Given the description of an element on the screen output the (x, y) to click on. 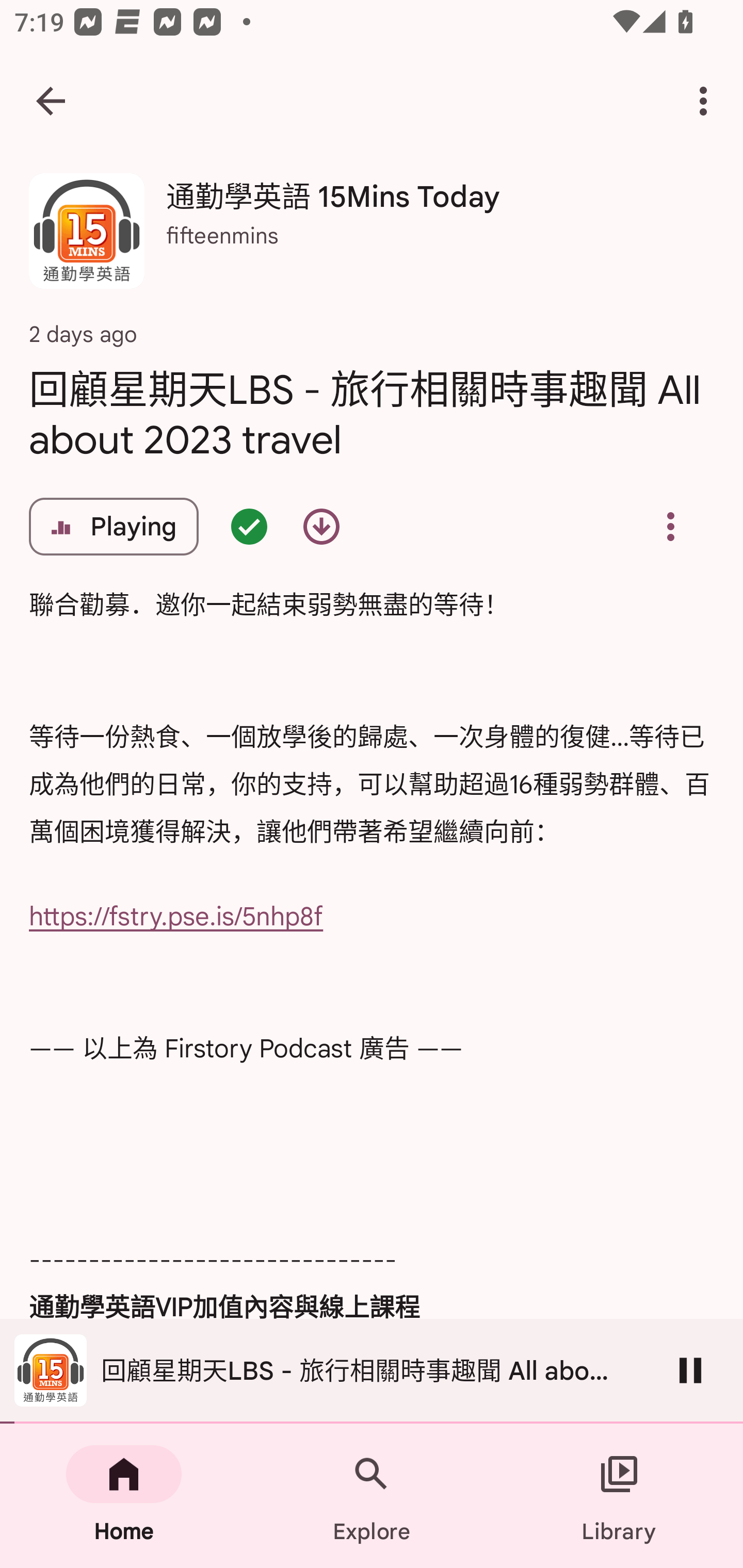
Navigate up (50, 101)
More options (706, 101)
通勤學英語 15Mins Today 通勤學英語 15Mins Today fifteenmins (371, 238)
Episode queued - double tap for options (249, 525)
Download episode (321, 525)
Overflow menu (670, 525)
Pause (690, 1370)
Explore (371, 1495)
Library (619, 1495)
